Given the description of an element on the screen output the (x, y) to click on. 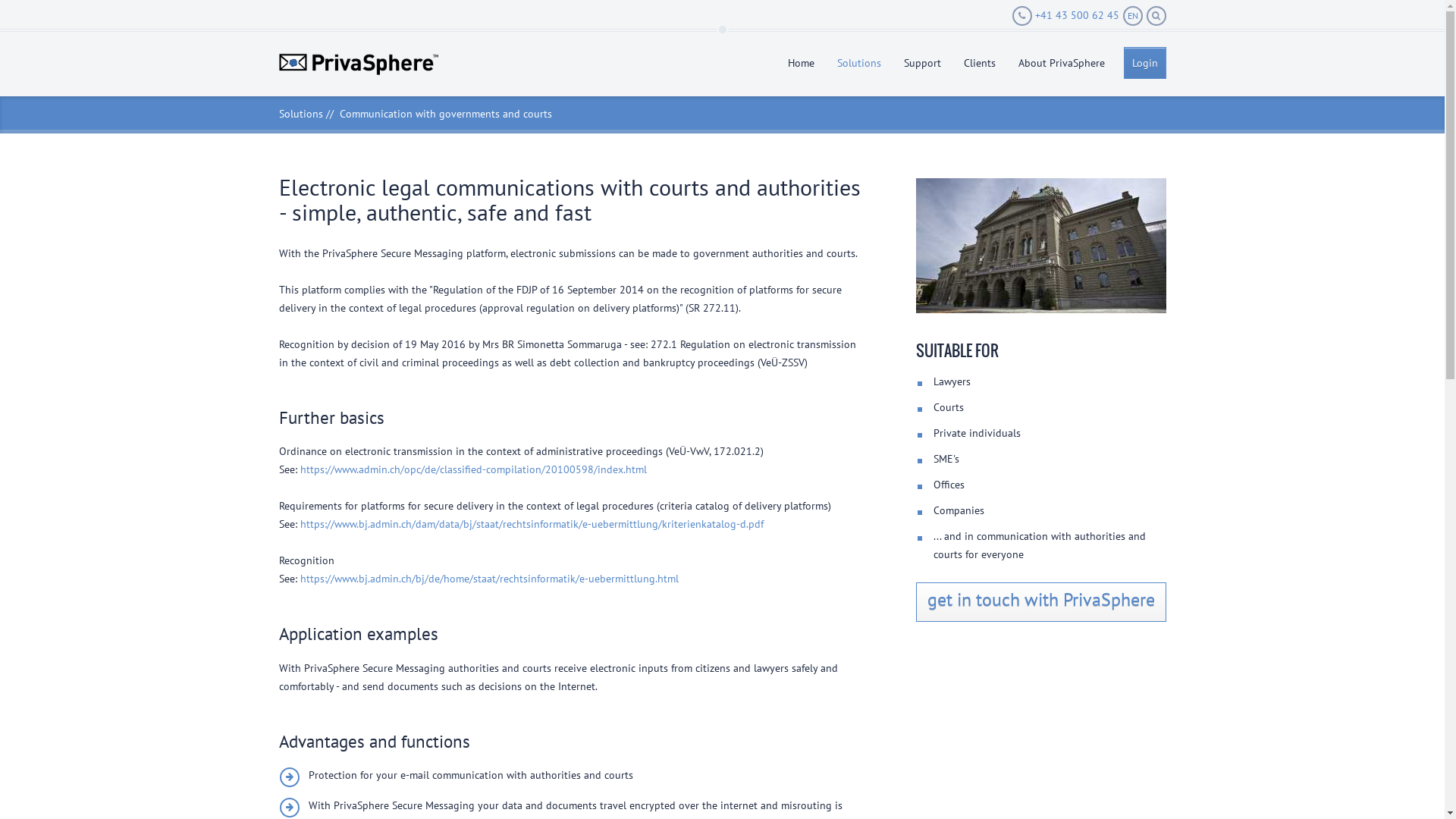
EN Element type: text (1132, 15)
Home Element type: hover (358, 63)
Home Element type: text (800, 61)
Solutions Element type: text (301, 113)
About PrivaSphere Element type: text (1061, 61)
Clients Element type: text (979, 61)
Solutions Element type: text (858, 61)
Support Element type: text (921, 61)
+41 43 500 62 45 Element type: text (1064, 15)
get in touch with PrivaSphere Element type: text (1041, 601)
Login Element type: text (1144, 62)
Communication with governments and courts Element type: text (445, 113)
